Given the description of an element on the screen output the (x, y) to click on. 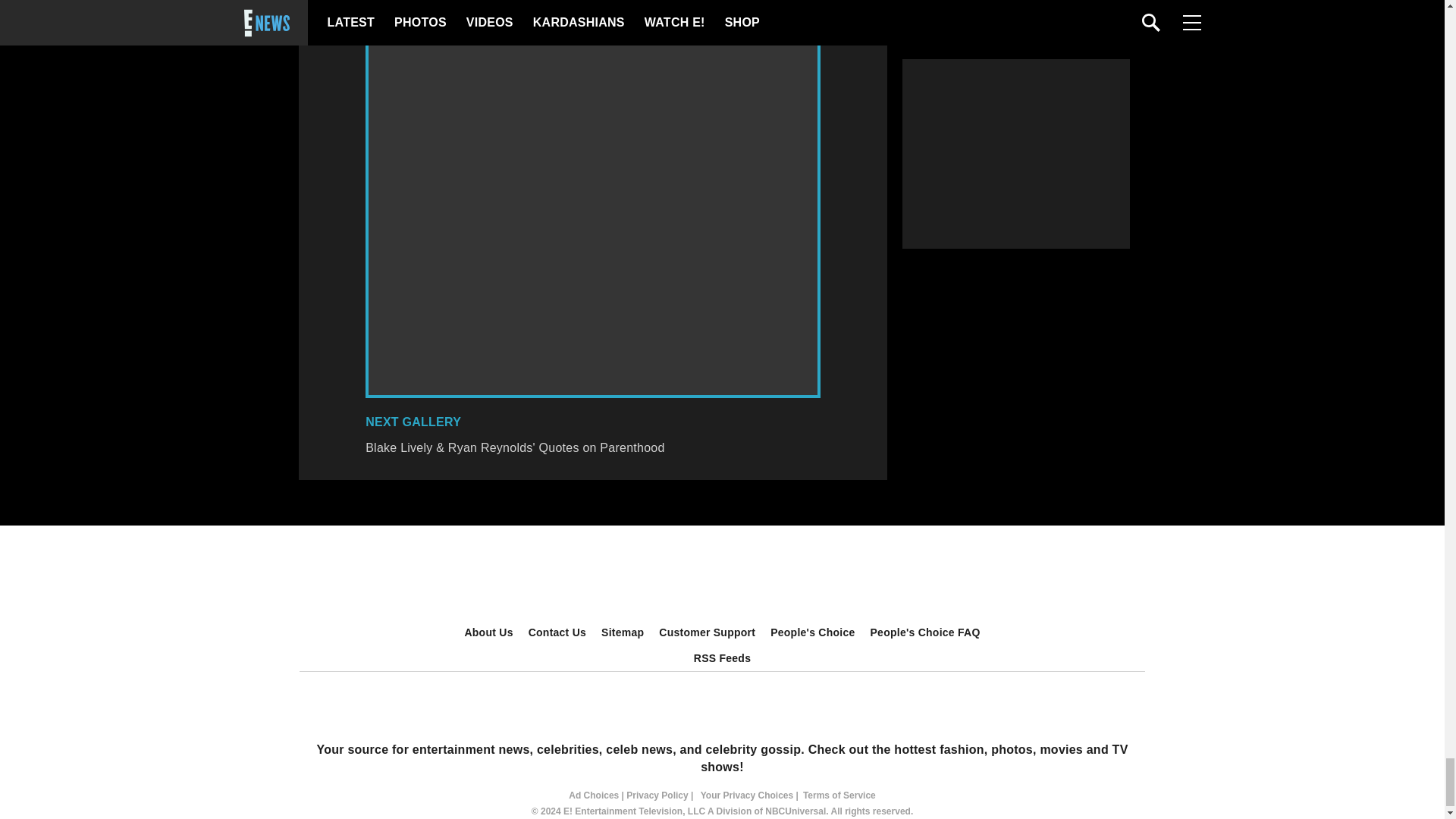
About Us (488, 632)
Contact Us (557, 632)
